Given the description of an element on the screen output the (x, y) to click on. 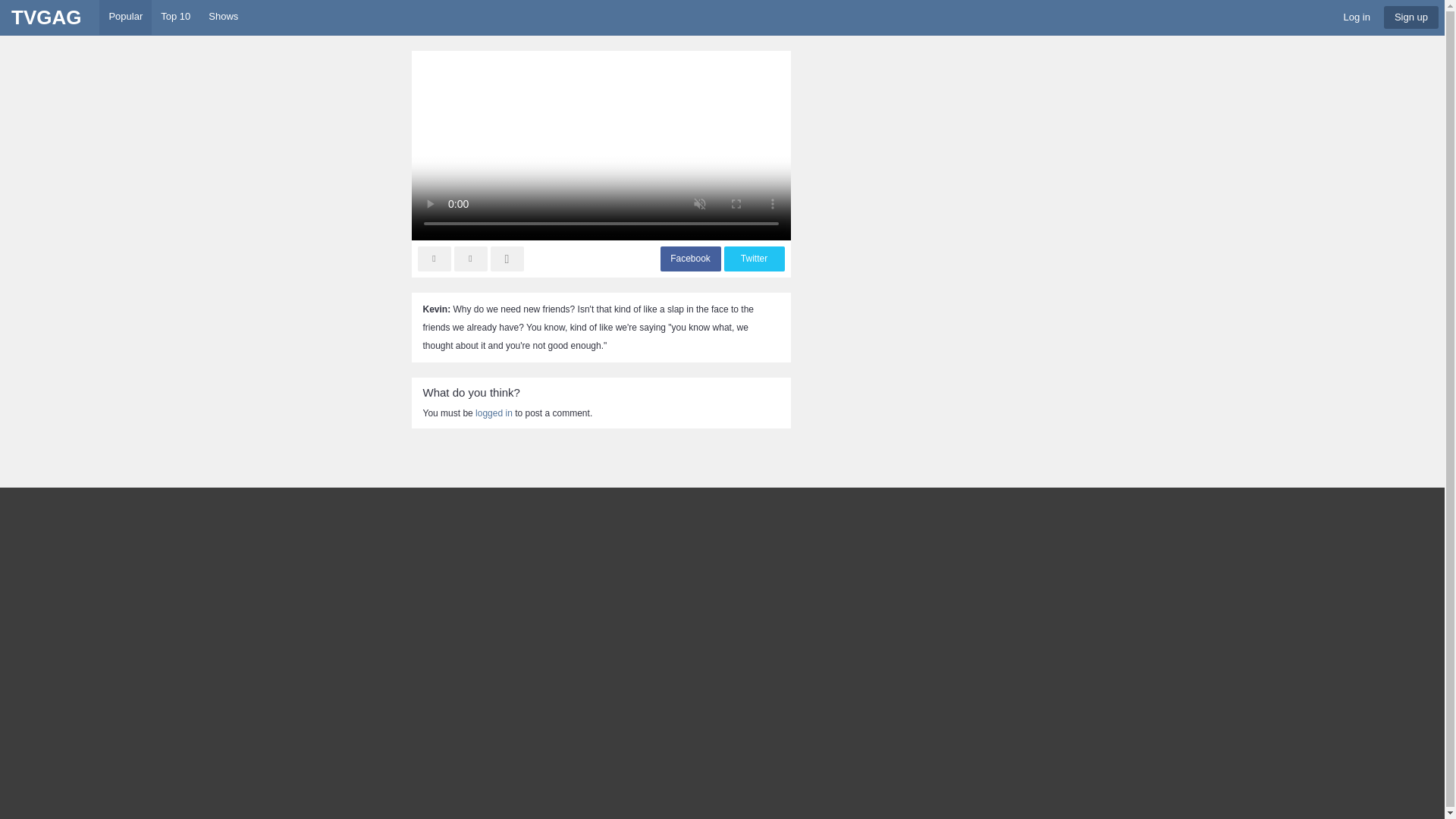
Log in (1355, 14)
Sign up (1411, 16)
Facebook (689, 258)
Log in (1355, 16)
Shows (223, 17)
Popular (125, 17)
Twitter (753, 258)
Top 10 (175, 17)
logged in (494, 412)
Sign Up to TVGag.com (1408, 14)
TVGAG (46, 18)
